Given the description of an element on the screen output the (x, y) to click on. 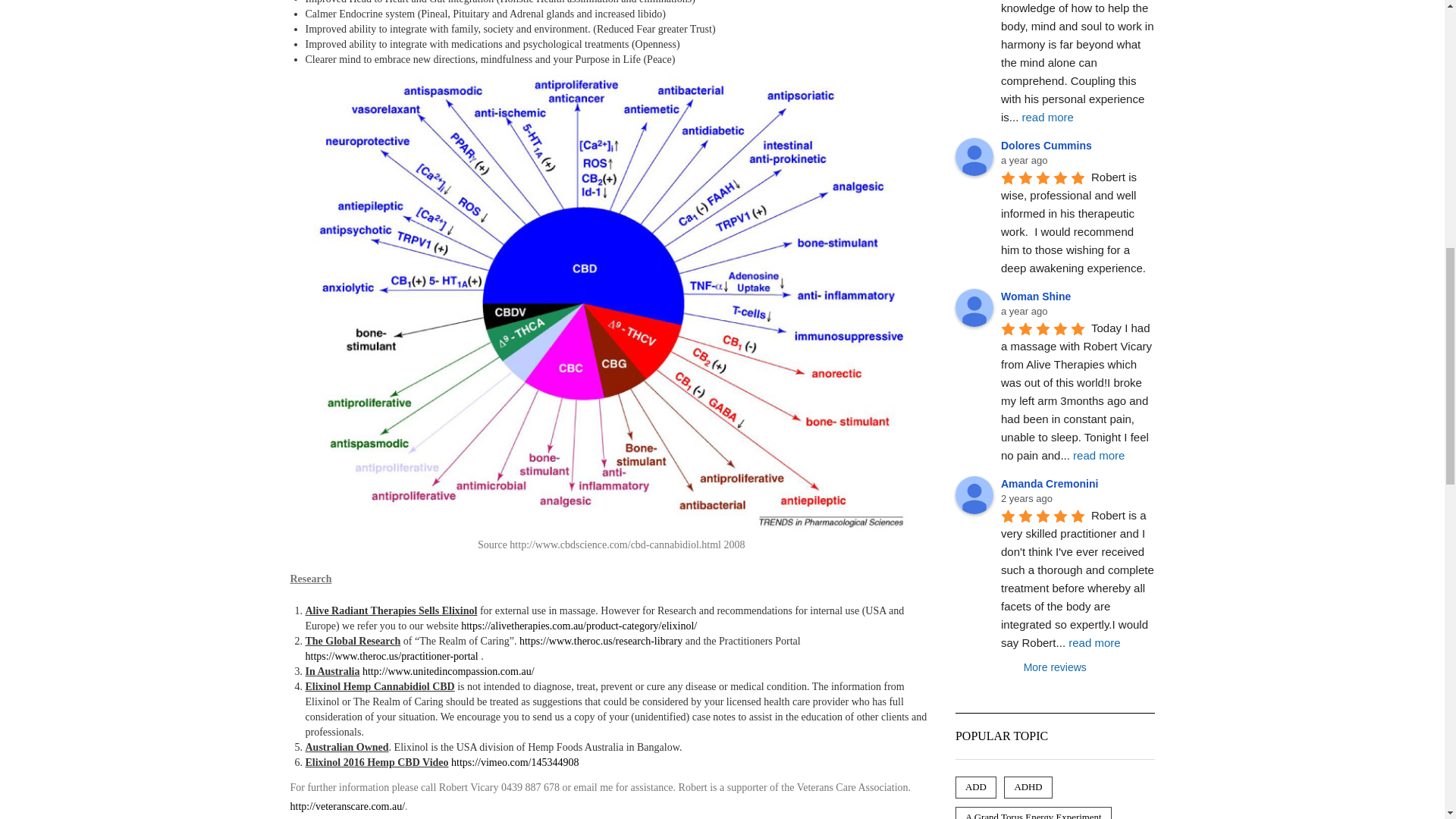
Dolores Cummins (973, 157)
Amanda Cremonini (973, 494)
Woman Shine (973, 307)
